Given the description of an element on the screen output the (x, y) to click on. 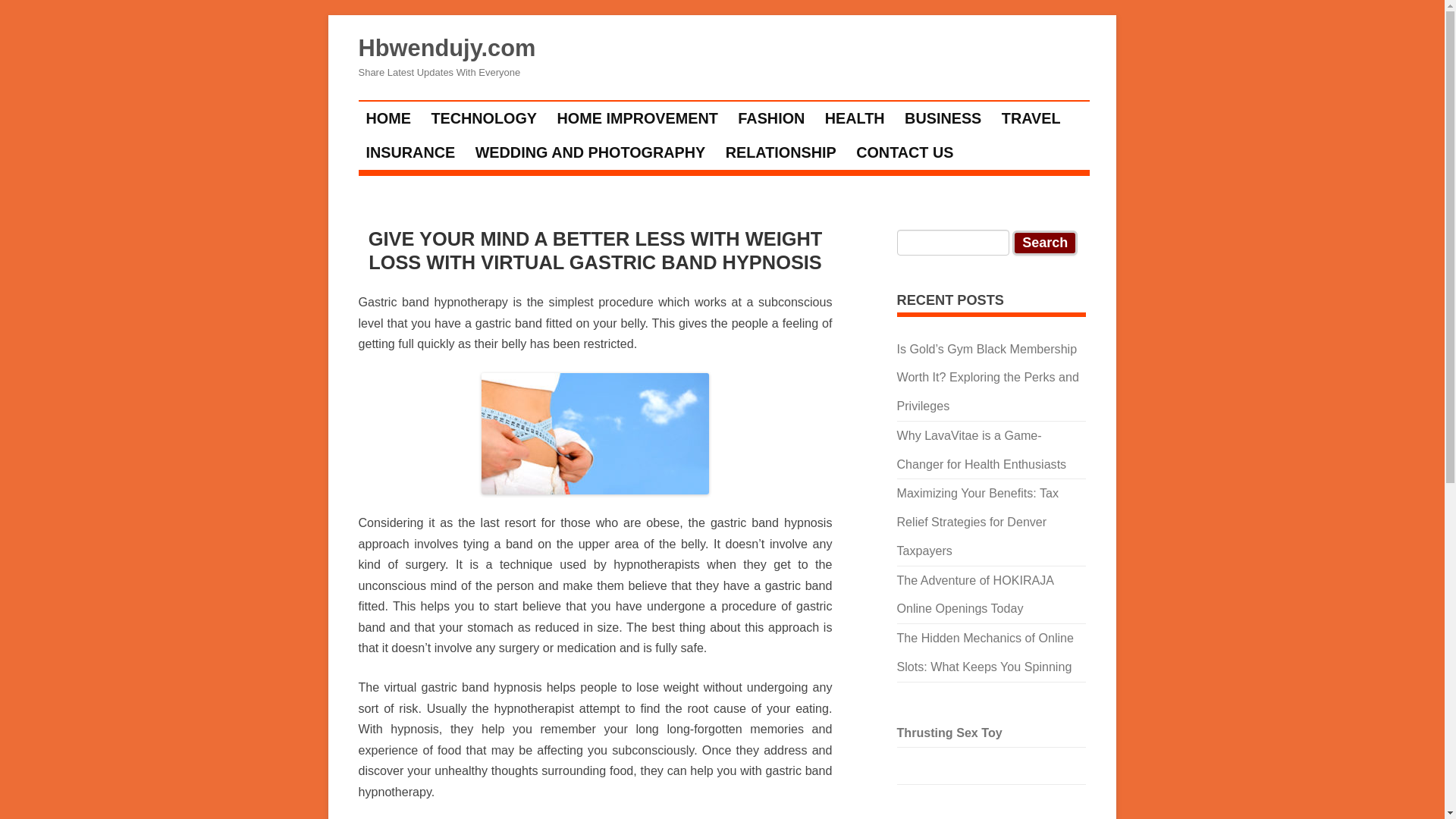
Thrusting Sex Toy (948, 732)
HOME (388, 118)
RELATIONSHIP (781, 152)
HOME IMPROVEMENT (637, 118)
Hbwendujy.com (446, 48)
FASHION (770, 118)
Skip to content (765, 105)
TECHNOLOGY (483, 118)
Search (1044, 242)
